Given the description of an element on the screen output the (x, y) to click on. 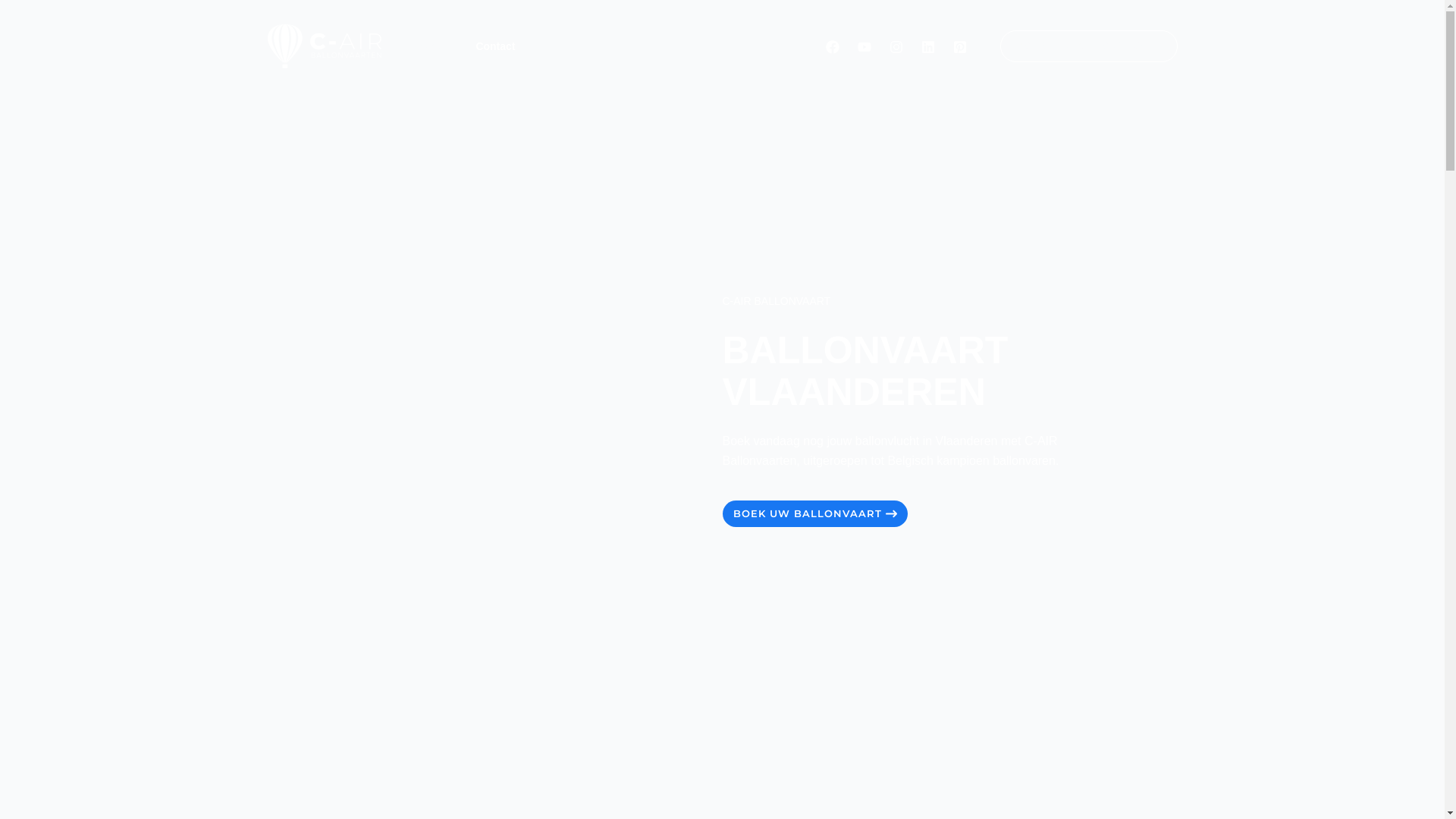
BOEK UW BALLONVAART Element type: text (813, 513)
Home Element type: text (426, 45)
BOEK EEN BALLONVLUCHT Element type: text (1078, 46)
Contact Element type: text (494, 45)
